Given the description of an element on the screen output the (x, y) to click on. 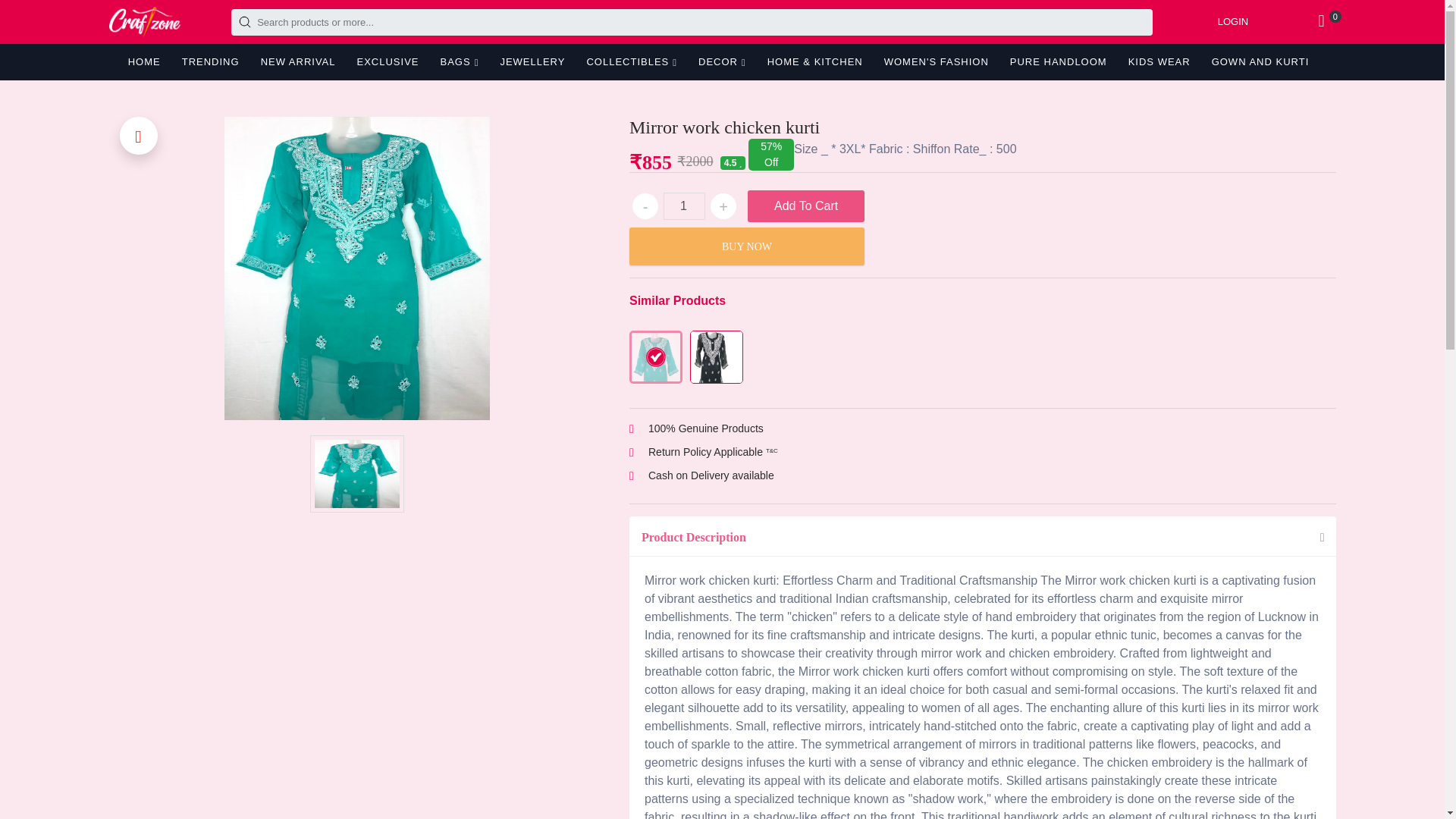
NEW ARRIVAL (297, 62)
- (644, 206)
BAGS (459, 62)
EXCLUSIVE (388, 62)
Qty (683, 206)
LOGIN (1232, 21)
Share this item to your friends and family (138, 135)
COLLECTIBLES (631, 62)
1 (683, 206)
JEWELLERY (532, 62)
